Given the description of an element on the screen output the (x, y) to click on. 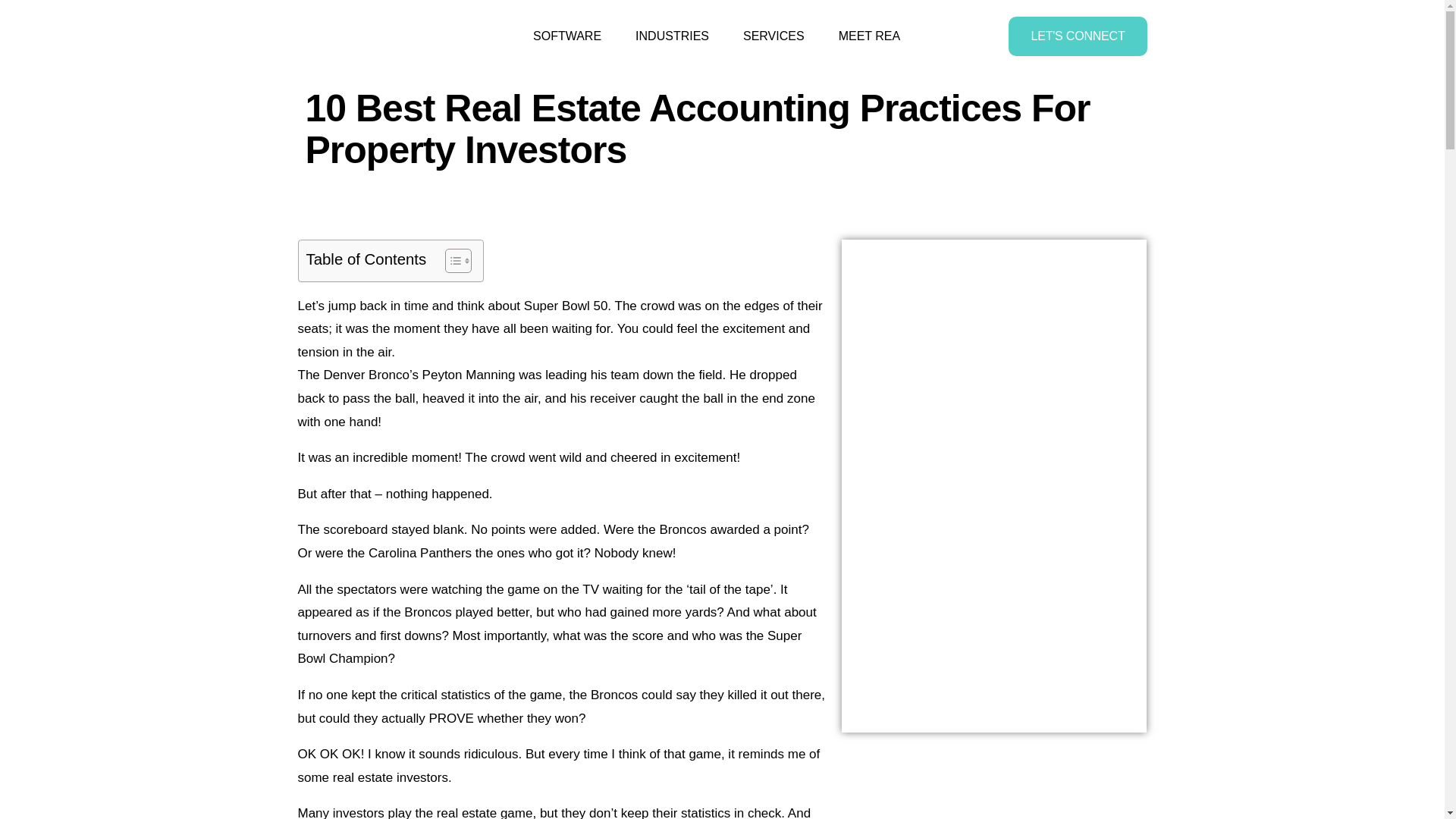
SERVICES (773, 36)
SOFTWARE (716, 36)
MEET REA (566, 36)
INDUSTRIES (869, 36)
